Given the description of an element on the screen output the (x, y) to click on. 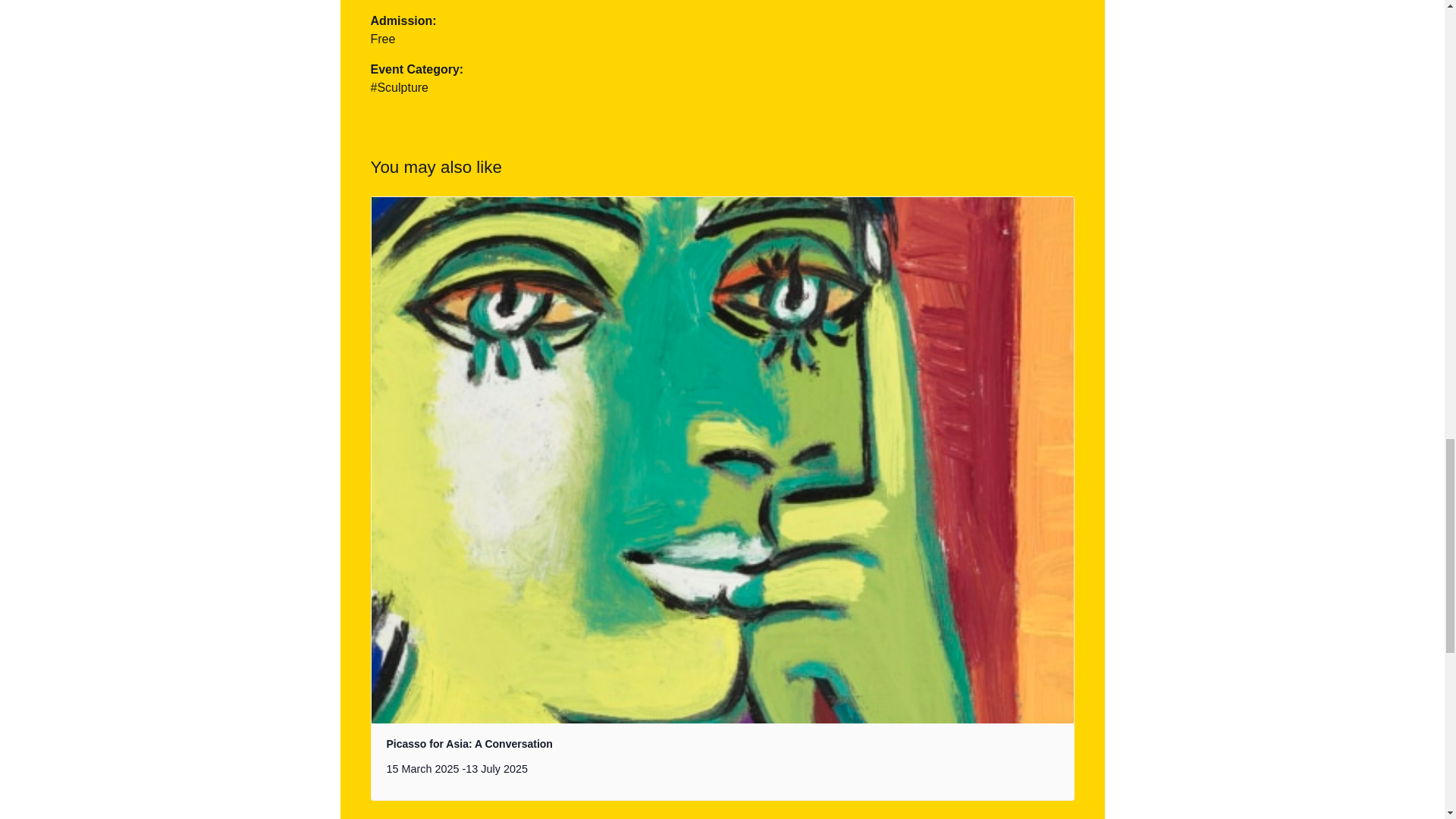
Sculpture (398, 87)
Picasso for Asia: A Conversation (470, 743)
